Given the description of an element on the screen output the (x, y) to click on. 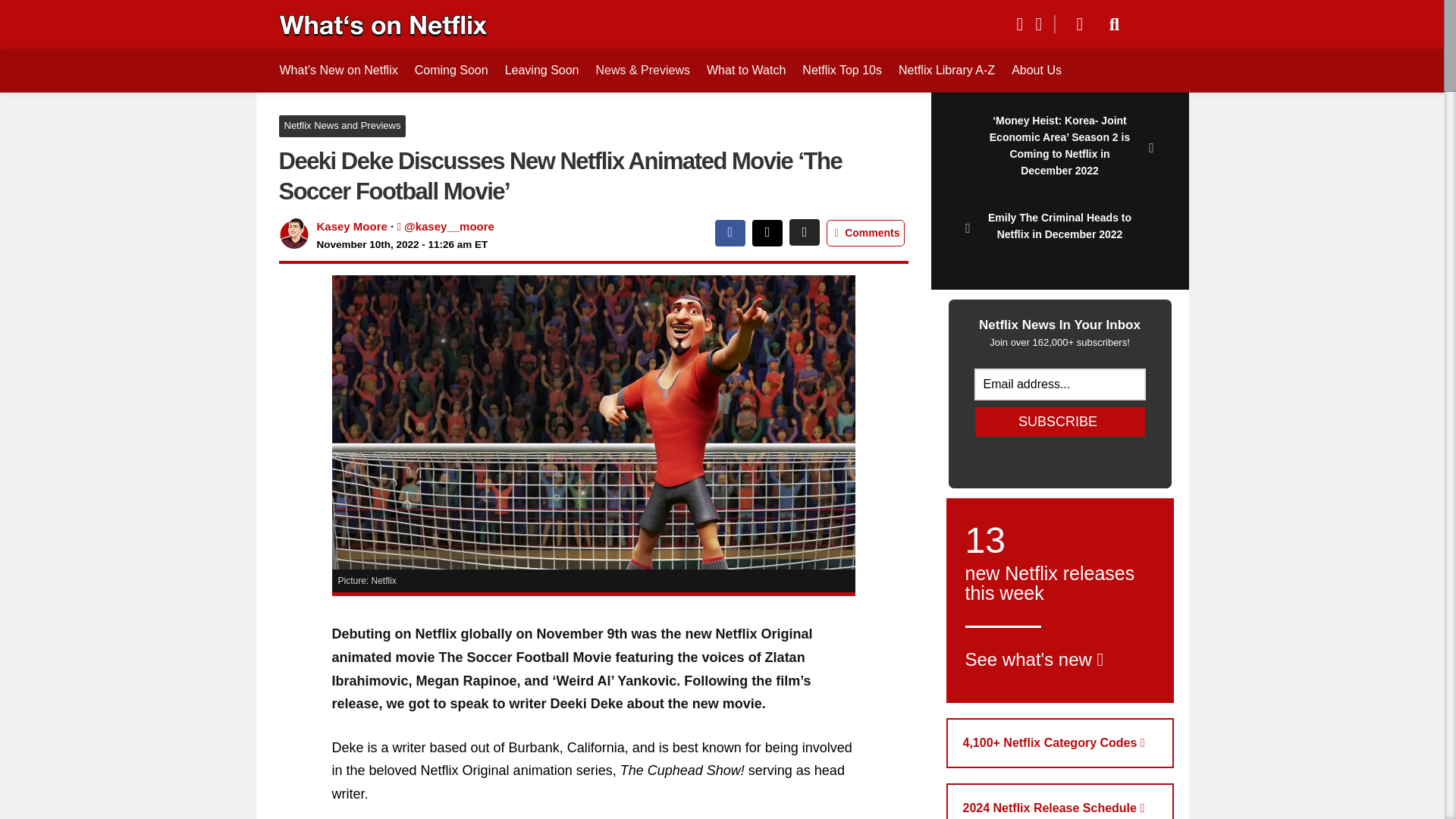
What to Watch (746, 70)
Comments (865, 233)
Posts by Kasey Moore (352, 226)
2024 Netflix Release Schedule (1059, 800)
2024 Netflix Release Schedule (1059, 800)
Coming Soon (451, 70)
Kasey Moore (352, 226)
Netflix News and Previews (342, 126)
Take Action Now! (111, 14)
Netflix Top 10s (842, 70)
